Given the description of an element on the screen output the (x, y) to click on. 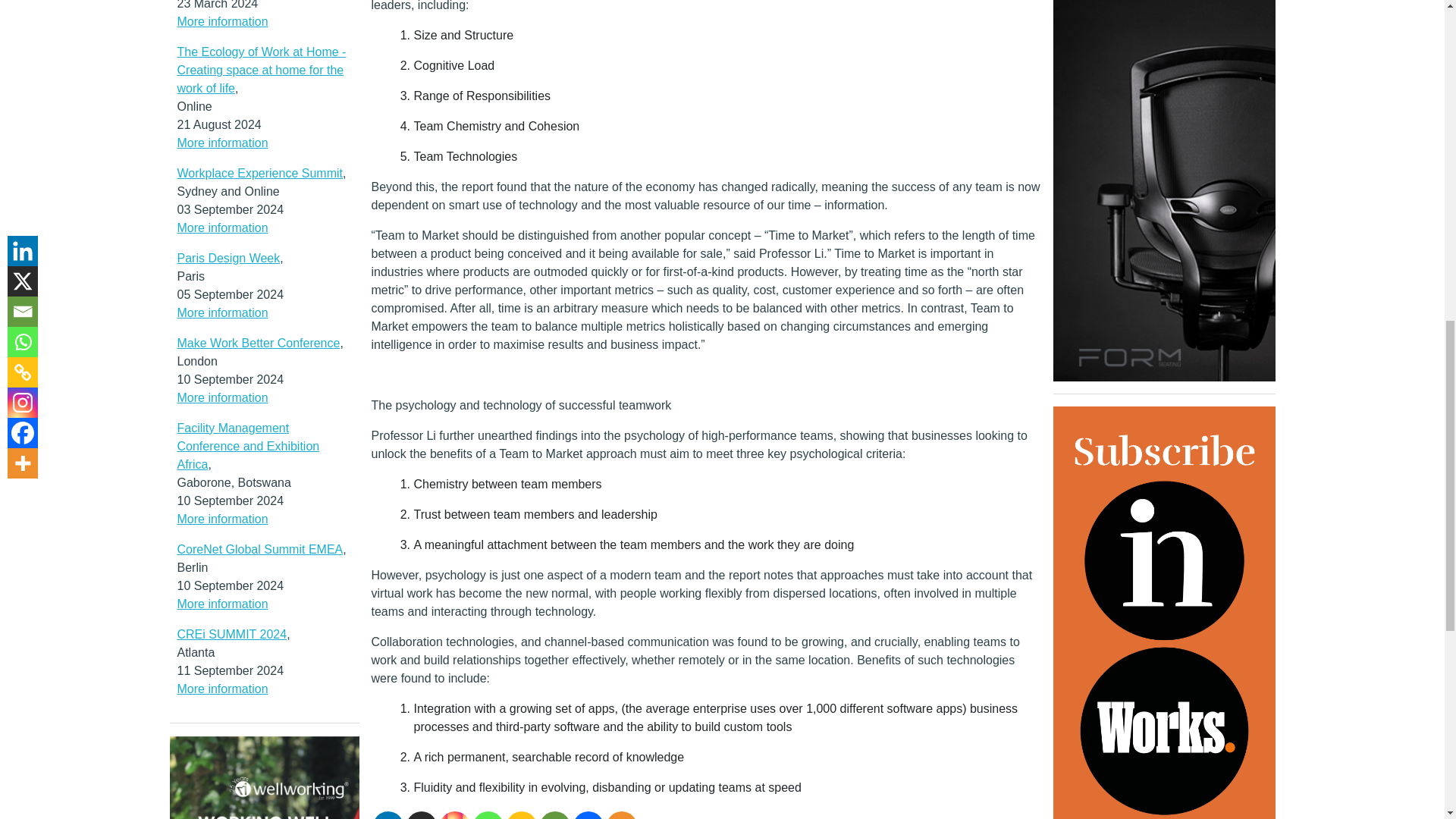
More information (222, 21)
X (421, 815)
Email (555, 815)
Copy Link (521, 815)
Whatsapp (488, 815)
Linkedin (387, 815)
Instagram (454, 815)
Facebook (588, 815)
More (622, 815)
